Given the description of an element on the screen output the (x, y) to click on. 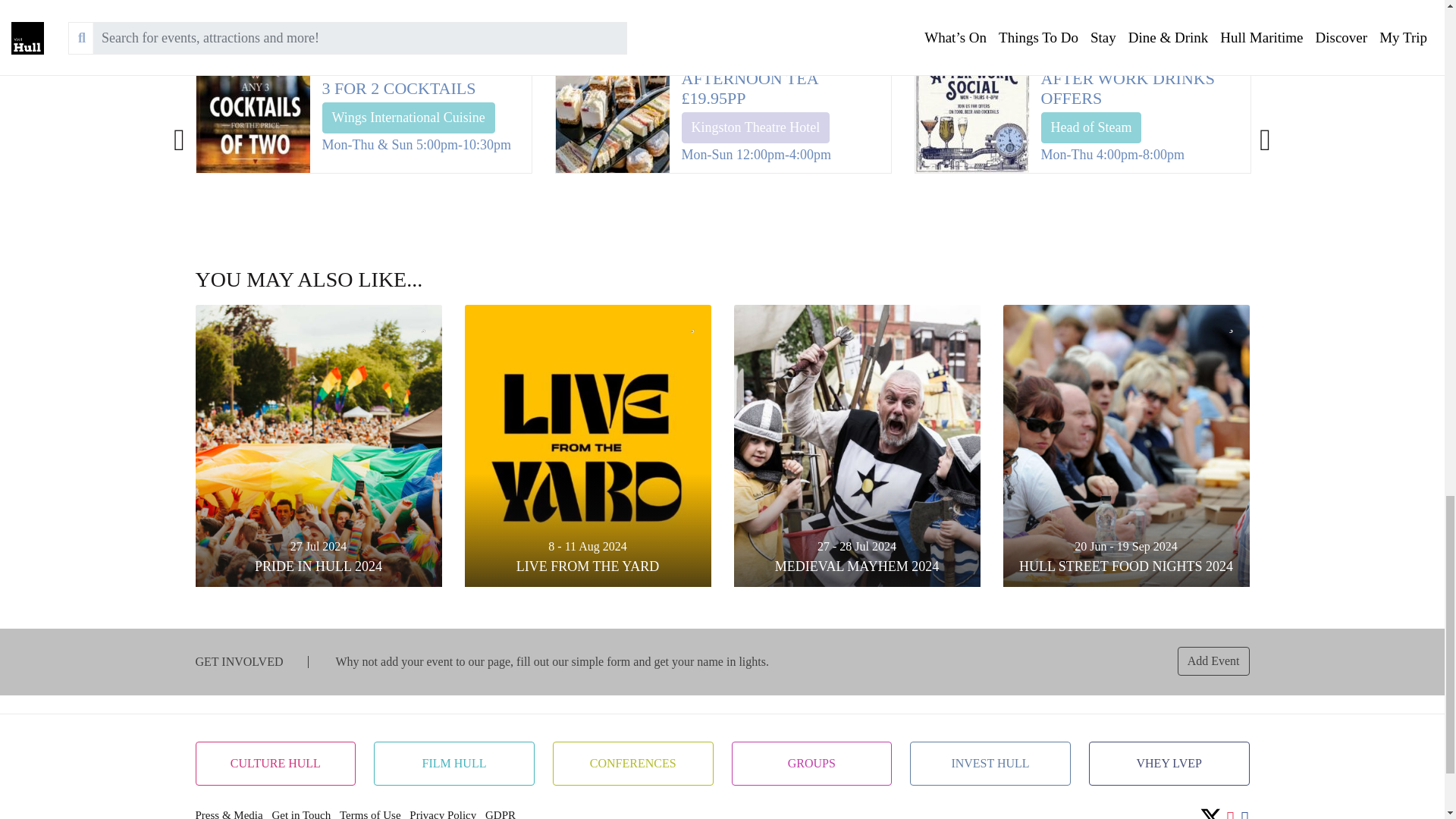
Kingston Theatre Hotel (755, 127)
Wings International Cuisine (408, 117)
View all Local Tips (991, 39)
Previous (178, 131)
